Given the description of an element on the screen output the (x, y) to click on. 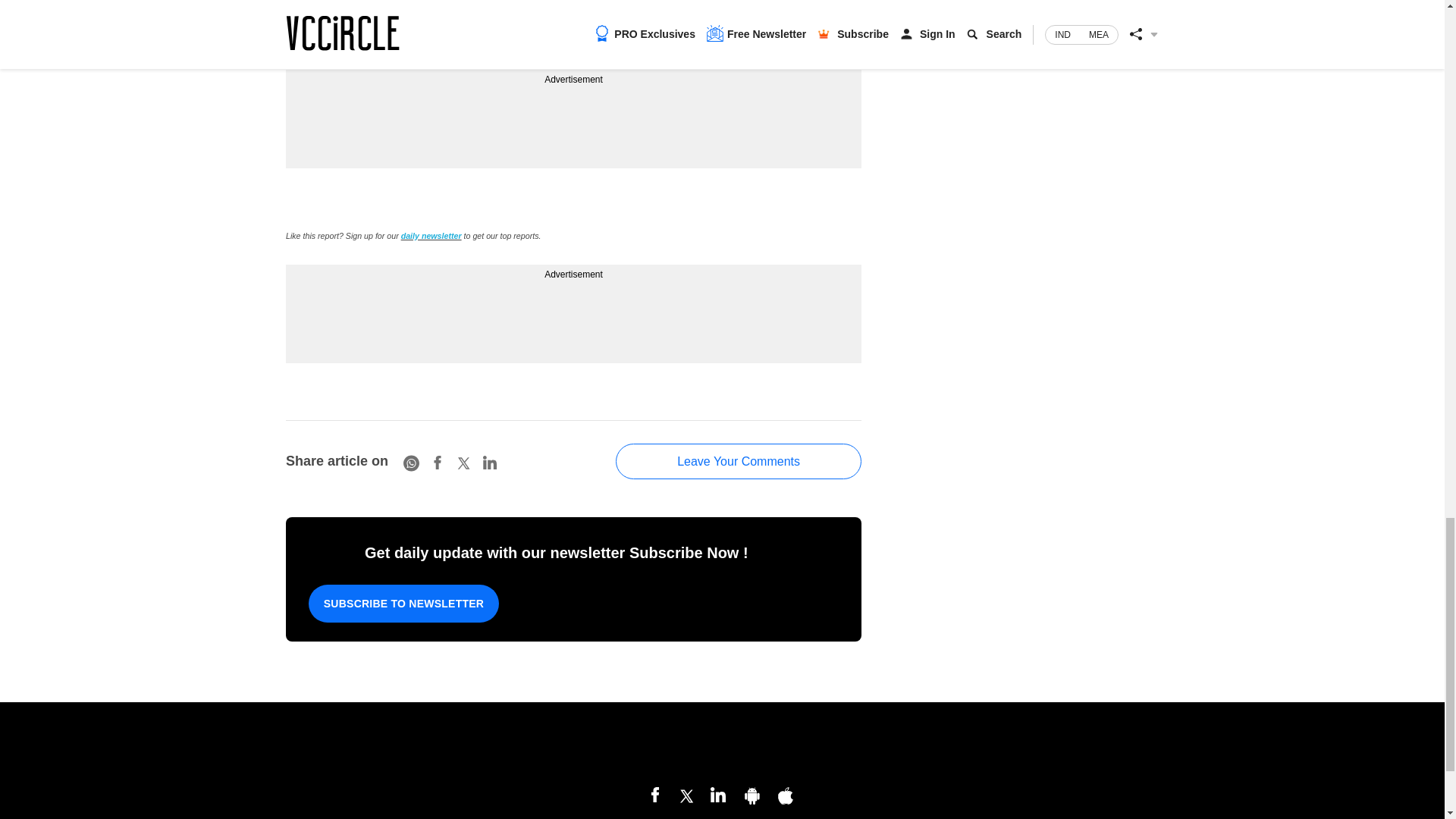
daily newsletter (431, 235)
SUBSCRIBE TO NEWSLETTER (403, 603)
Mosaic Digital (721, 745)
Leave Your Comments (738, 461)
